Given the description of an element on the screen output the (x, y) to click on. 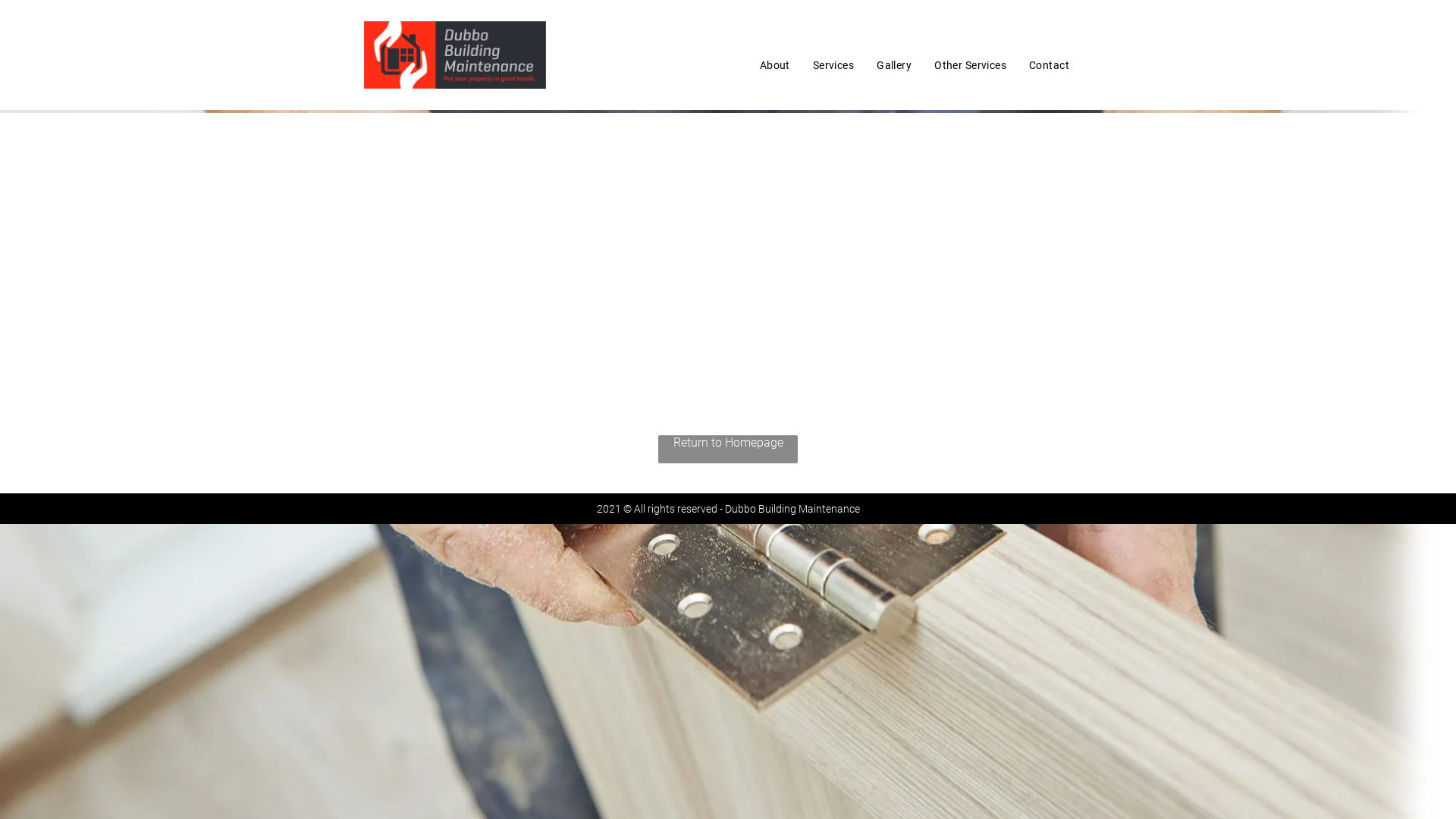
Gallery Element type: text (893, 65)
Contact Element type: text (1048, 65)
Services Element type: text (833, 65)
Other Services Element type: text (969, 65)
Return to Homepage Element type: text (727, 449)
About Element type: text (774, 65)
